Given the description of an element on the screen output the (x, y) to click on. 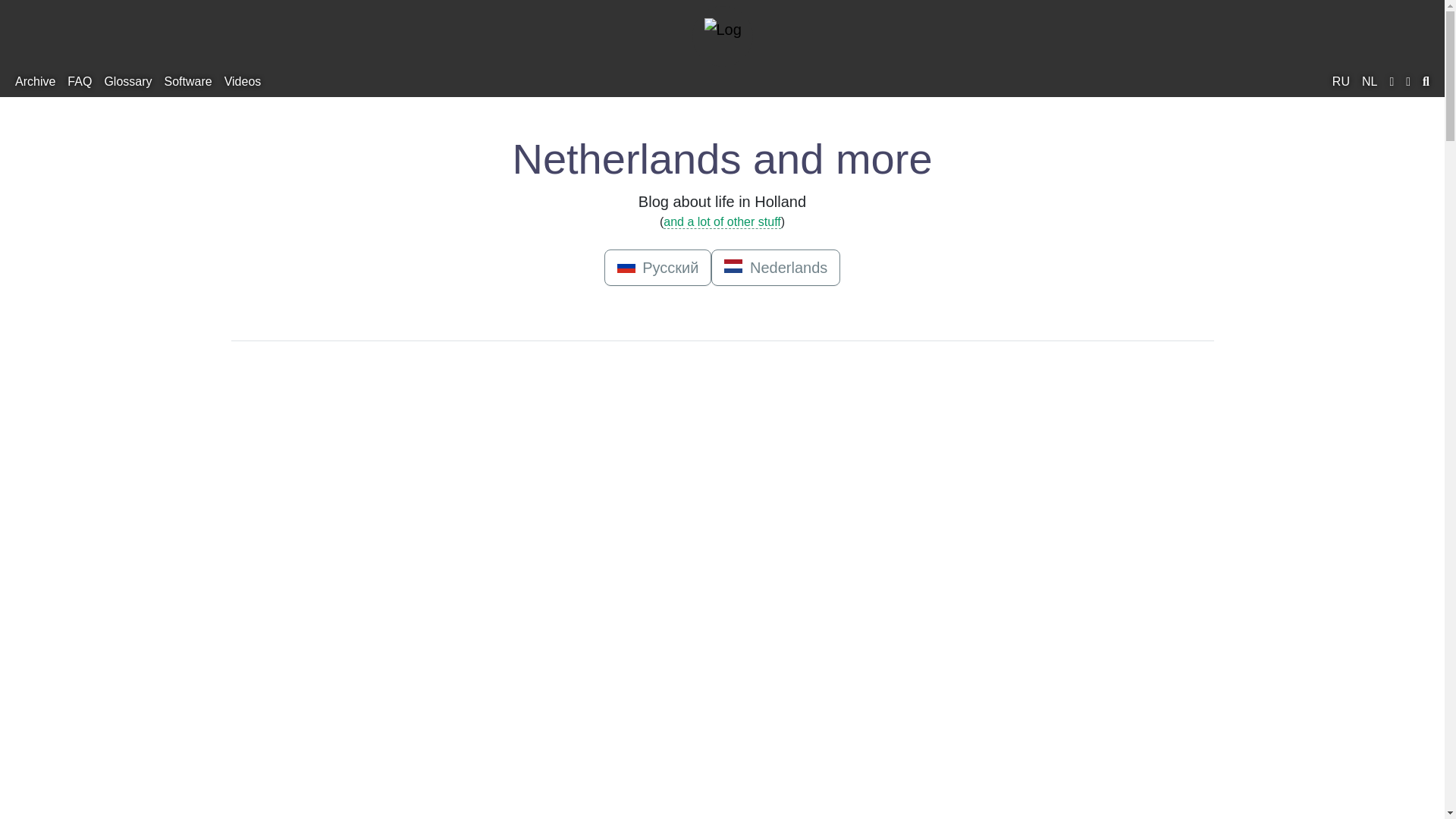
Home (721, 35)
NL (1369, 81)
Nederlands (775, 267)
Videos (242, 81)
FAQ (79, 81)
RU (1340, 81)
Software (186, 81)
Archive (34, 81)
and a lot of other stuff (721, 222)
Nederlands (1369, 81)
